Given the description of an element on the screen output the (x, y) to click on. 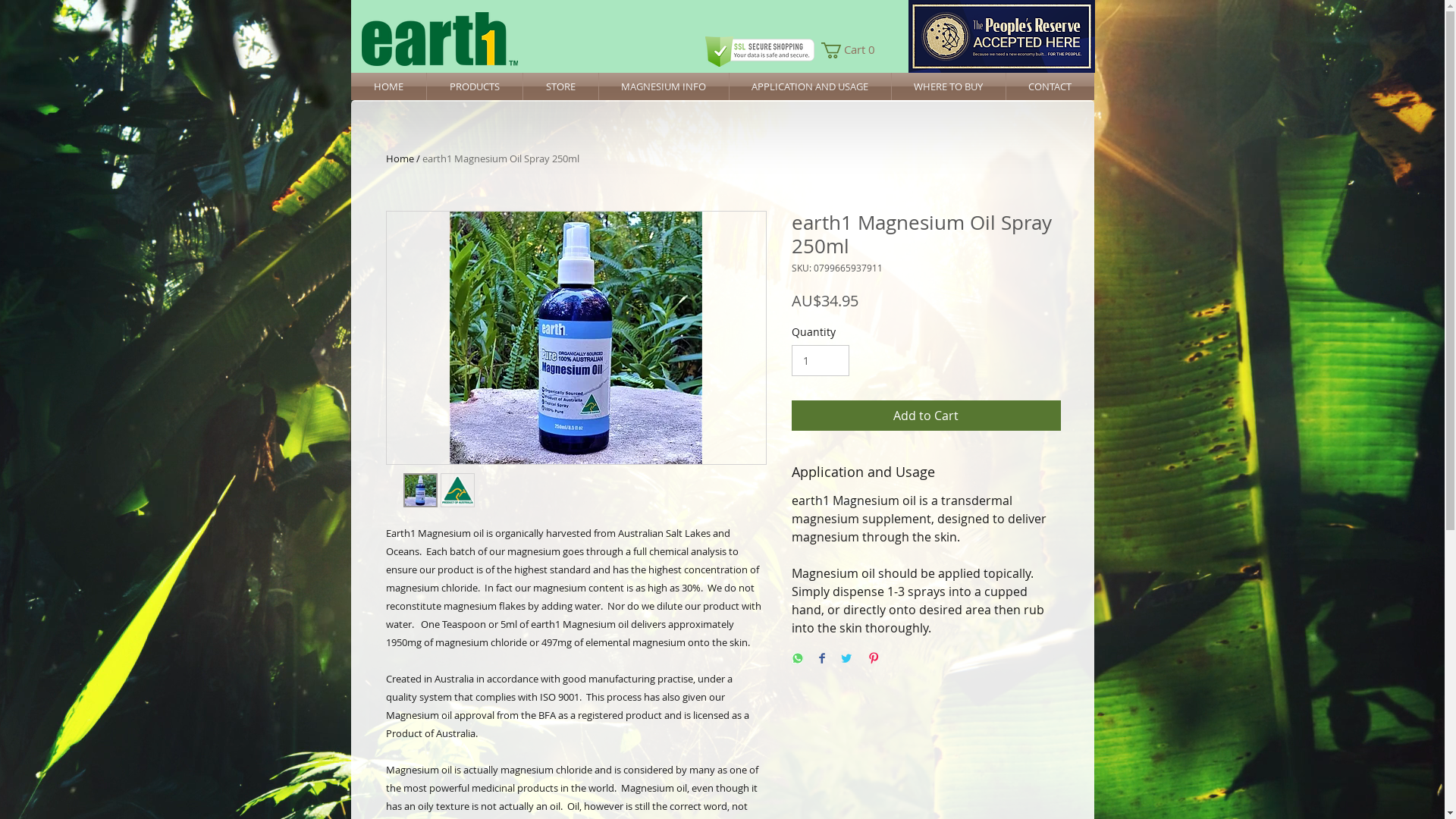
Cart
0 Element type: text (850, 50)
TPR Accepted Here Logo.png Element type: hover (1001, 36)
HOME Element type: text (387, 86)
APPLICATION AND USAGE Element type: text (810, 86)
PRODUCTS Element type: text (473, 86)
CONTACT Element type: text (1049, 86)
Home Element type: text (399, 158)
MAGNESIUM INFO Element type: text (663, 86)
WHERE TO BUY Element type: text (948, 86)
earth1 Magnesium Oil Spray 250ml Element type: text (499, 158)
STORE Element type: text (560, 86)
Add to Cart Element type: text (925, 415)
